Given the description of an element on the screen output the (x, y) to click on. 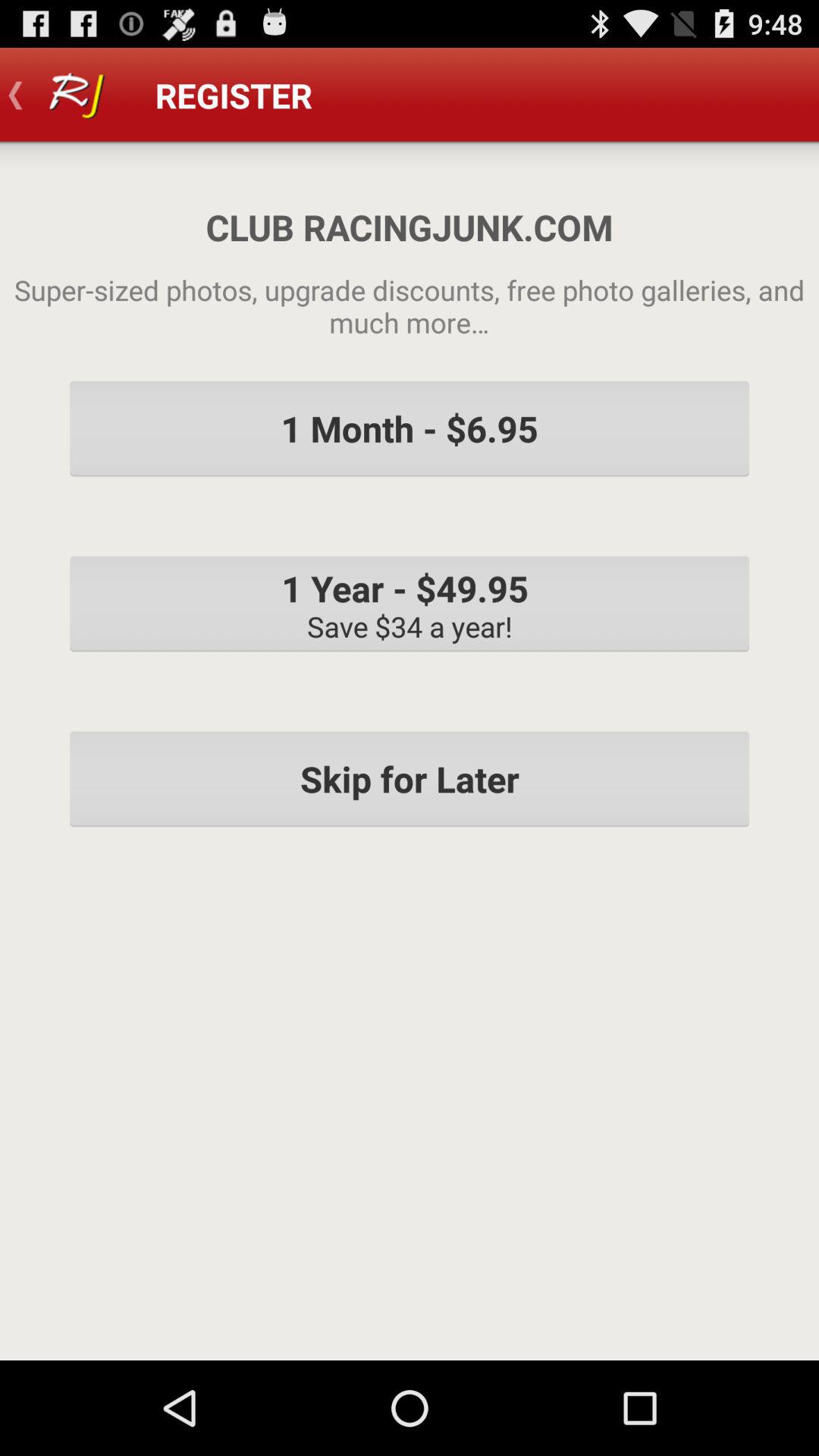
jump until the 1 year 49 icon (409, 603)
